Given the description of an element on the screen output the (x, y) to click on. 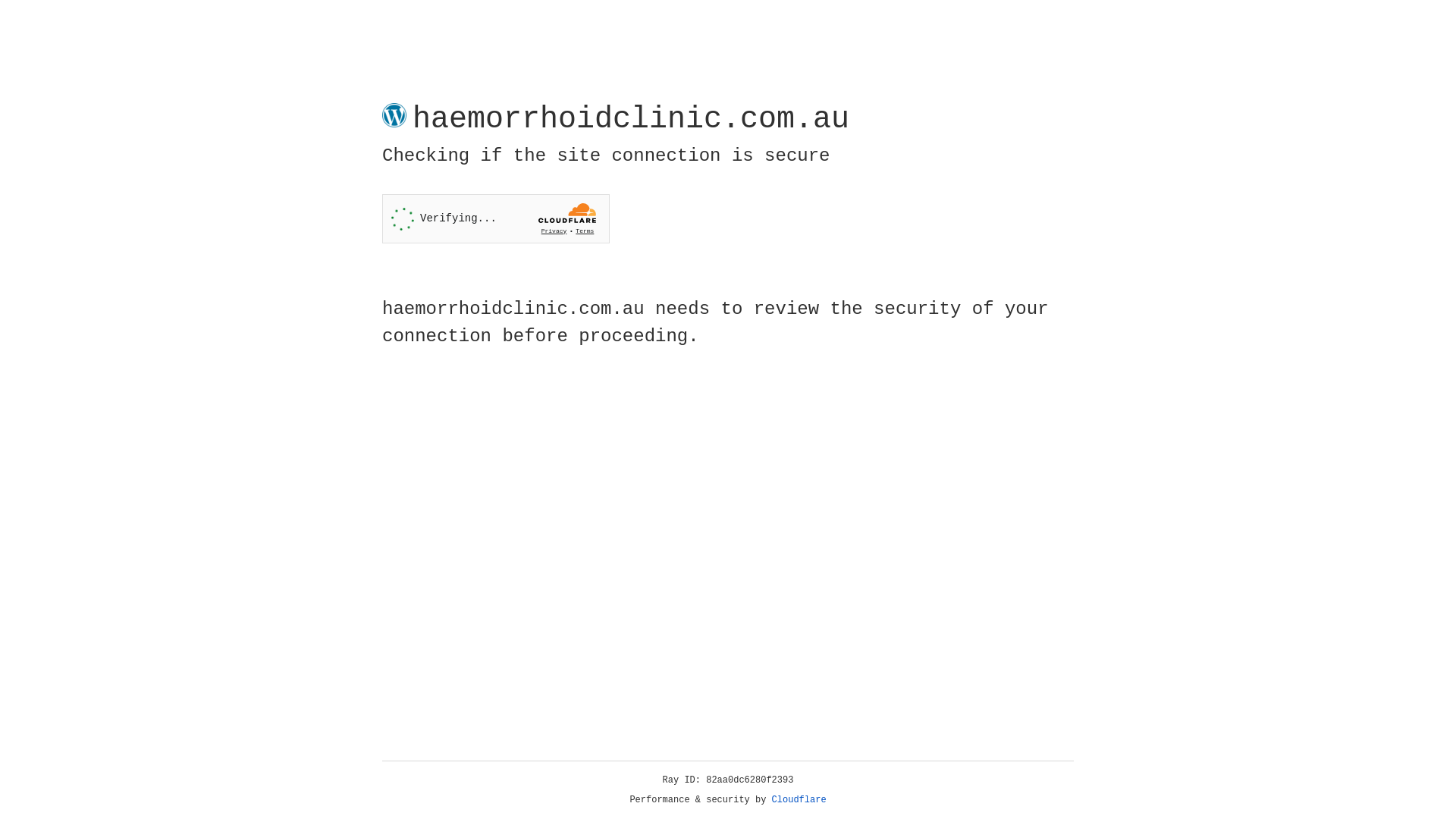
Cloudflare Element type: text (798, 799)
Widget containing a Cloudflare security challenge Element type: hover (495, 218)
